Given the description of an element on the screen output the (x, y) to click on. 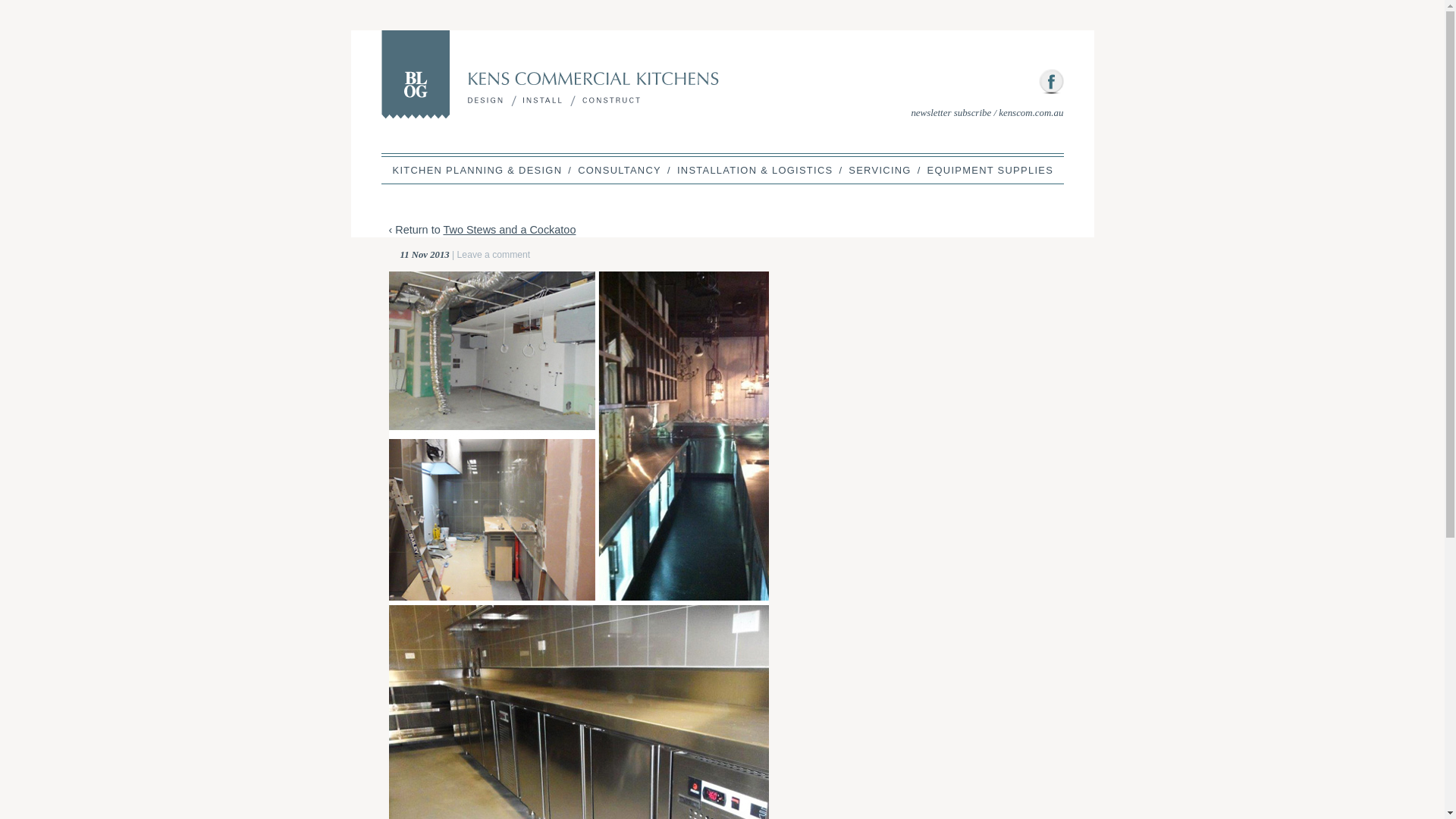
newsletter subscribe Element type: text (950, 112)
/ Element type: text (919, 170)
INSTALLATION & LOGISTICS Element type: text (755, 170)
/ Element type: text (669, 170)
CONSULTANCY Element type: text (619, 170)
EQUIPMENT SUPPLIES Element type: text (990, 170)
/ Element type: text (840, 170)
kenscom.com.au Element type: text (1030, 112)
SERVICING Element type: text (879, 170)
Two Stews and a Cockatoo Element type: text (508, 229)
11 Nov 2013 Element type: text (424, 254)
Leave a comment Element type: text (493, 254)
KITCHEN PLANNING & DESIGN Element type: text (477, 170)
/ Element type: text (569, 170)
